Given the description of an element on the screen output the (x, y) to click on. 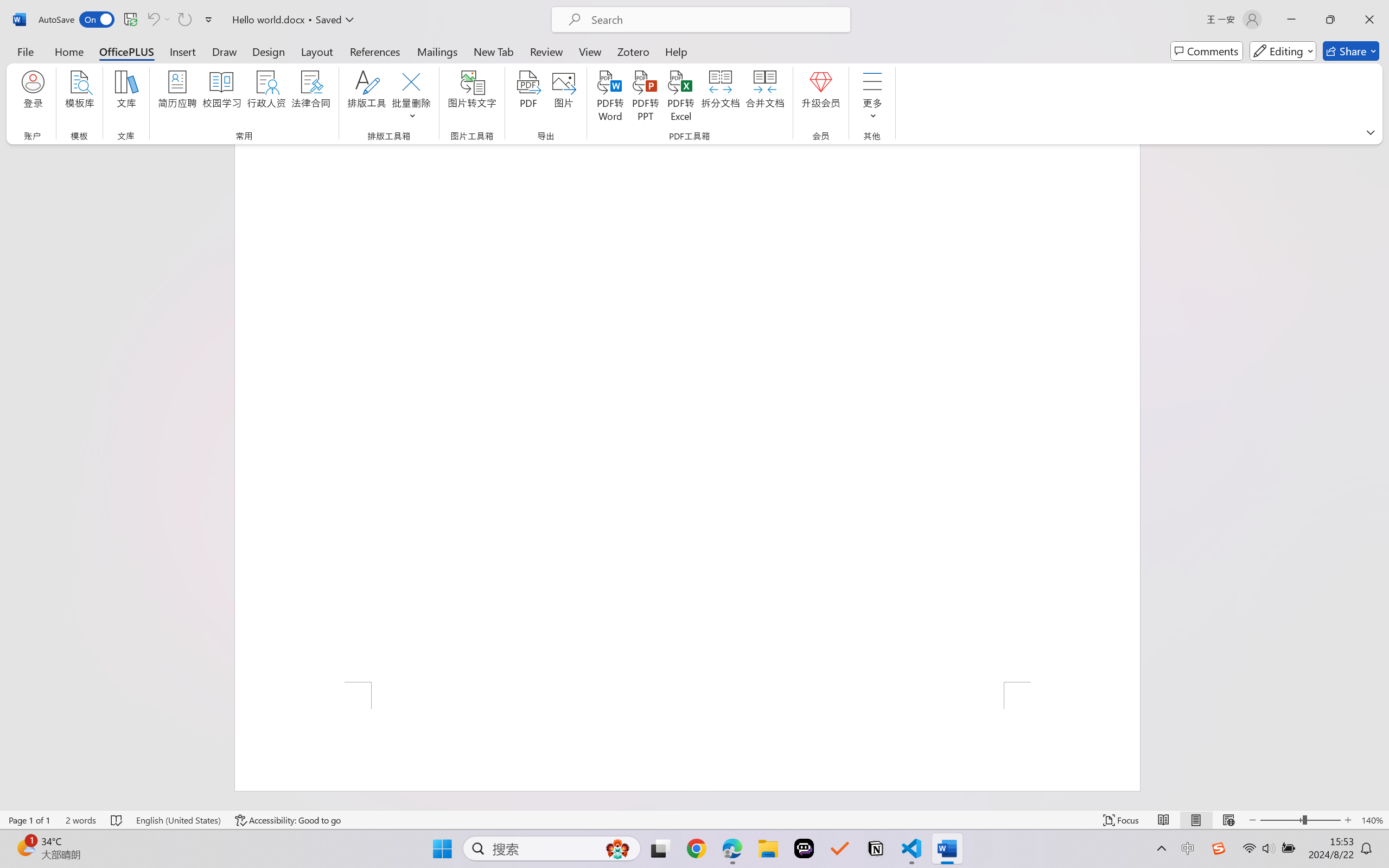
Review (546, 51)
Zotero (632, 51)
Google Chrome (696, 848)
Zoom In (1348, 819)
More Options (167, 19)
Microsoft search (715, 19)
Home (69, 51)
Share (1350, 51)
Zoom 140% (1372, 819)
